Given the description of an element on the screen output the (x, y) to click on. 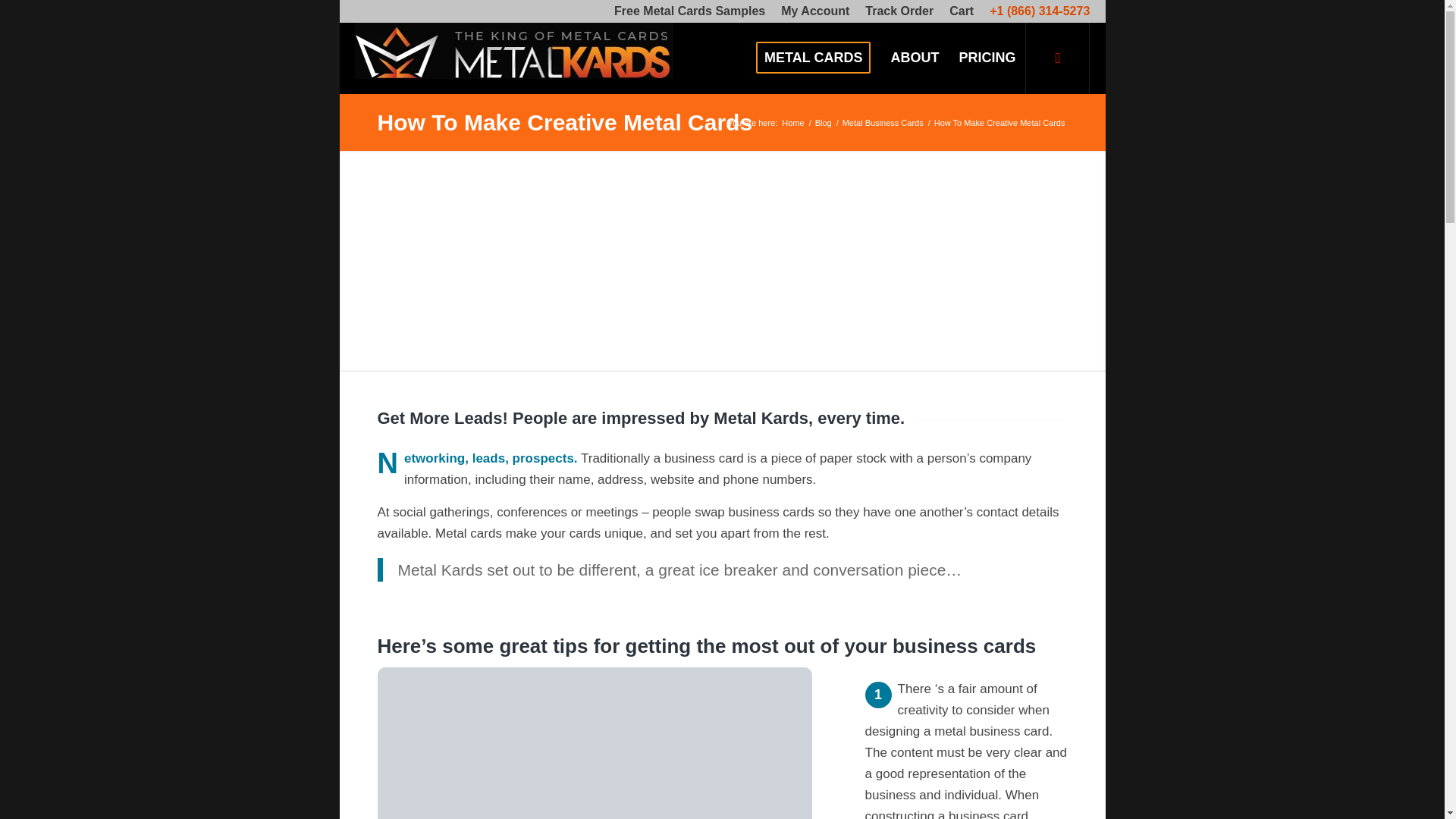
logo-horz-mkBanner-Nav03 (513, 58)
Free Metal Cards Samples (689, 11)
Permanent Link: How To Make Creative Metal Cards (564, 122)
logo-horz-mkBanner-Nav03 (513, 50)
